Given the description of an element on the screen output the (x, y) to click on. 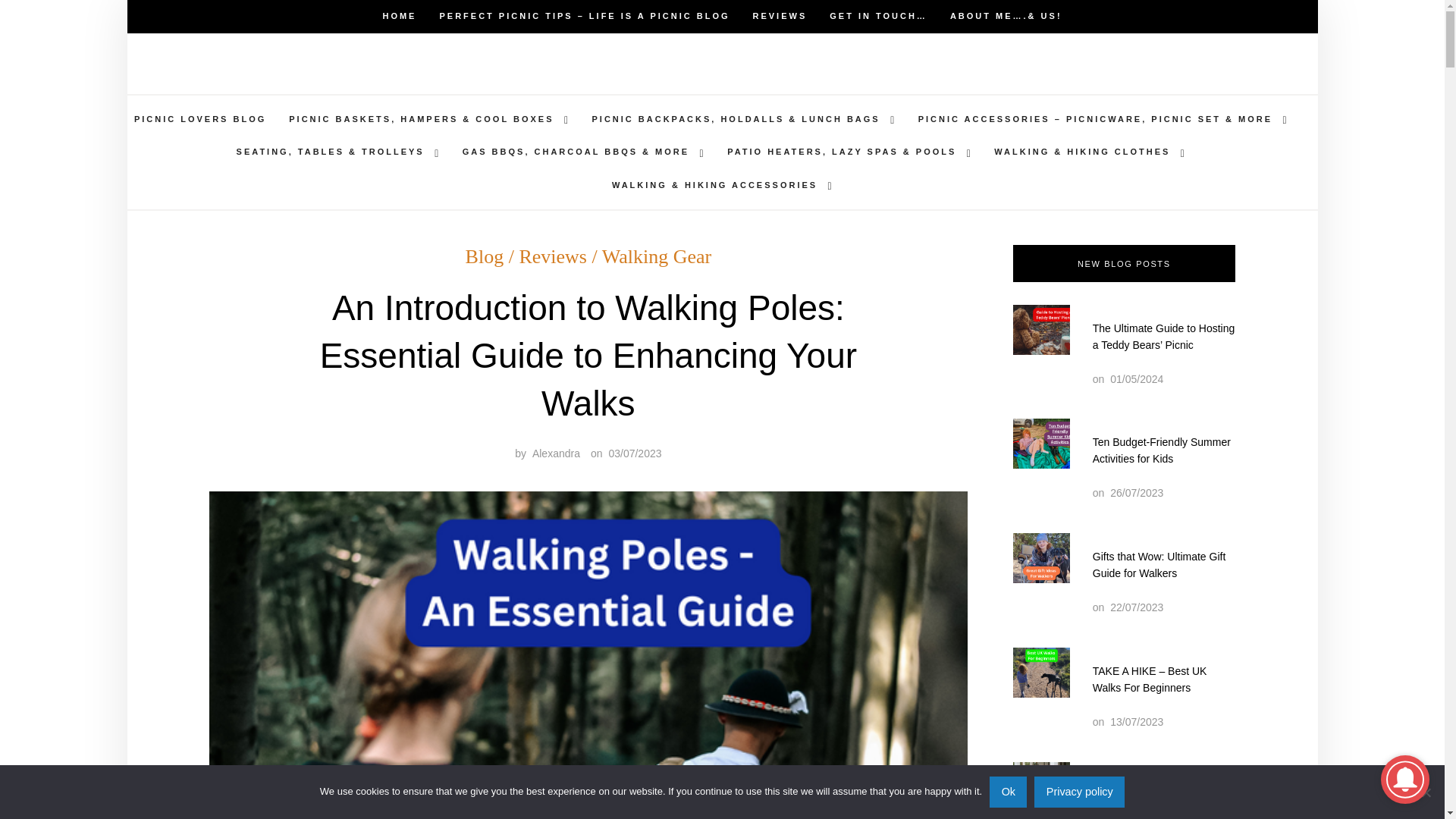
HOME (398, 16)
Life is a Picnic (624, 77)
REVIEWS (779, 16)
